Given the description of an element on the screen output the (x, y) to click on. 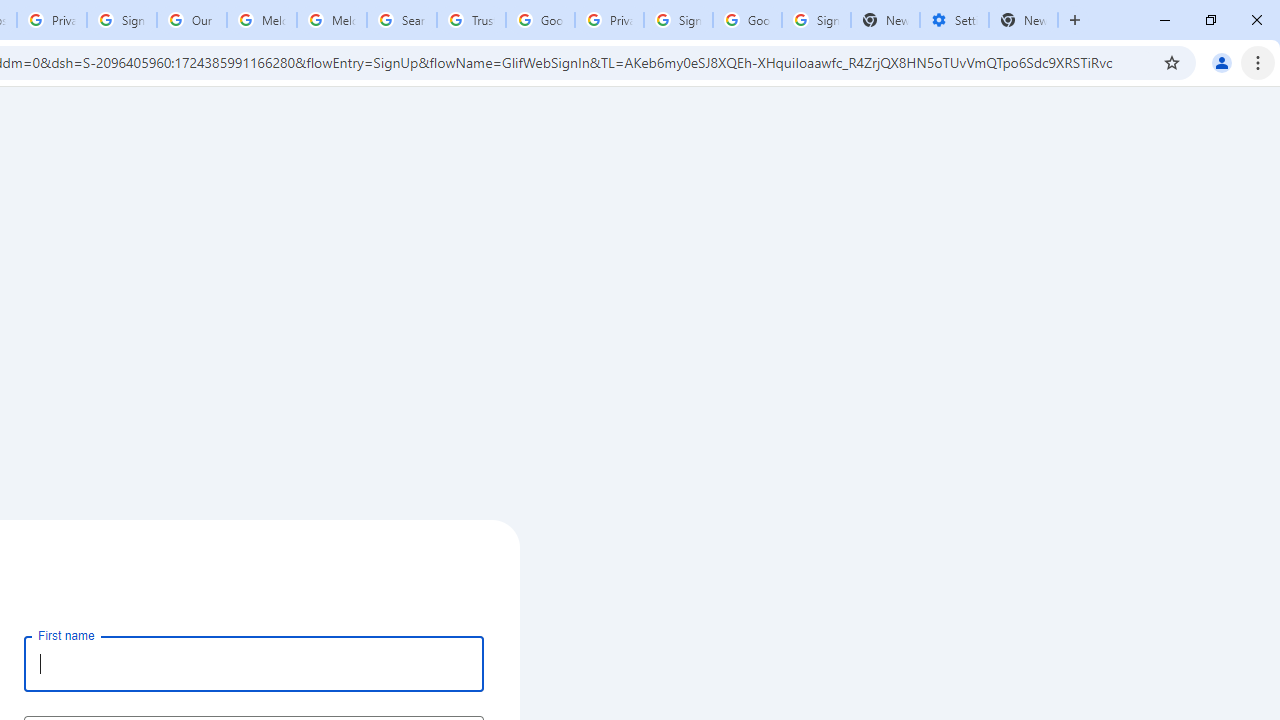
Sign in - Google Accounts (122, 20)
Search our Doodle Library Collection - Google Doodles (401, 20)
Sign in - Google Accounts (677, 20)
